Given the description of an element on the screen output the (x, y) to click on. 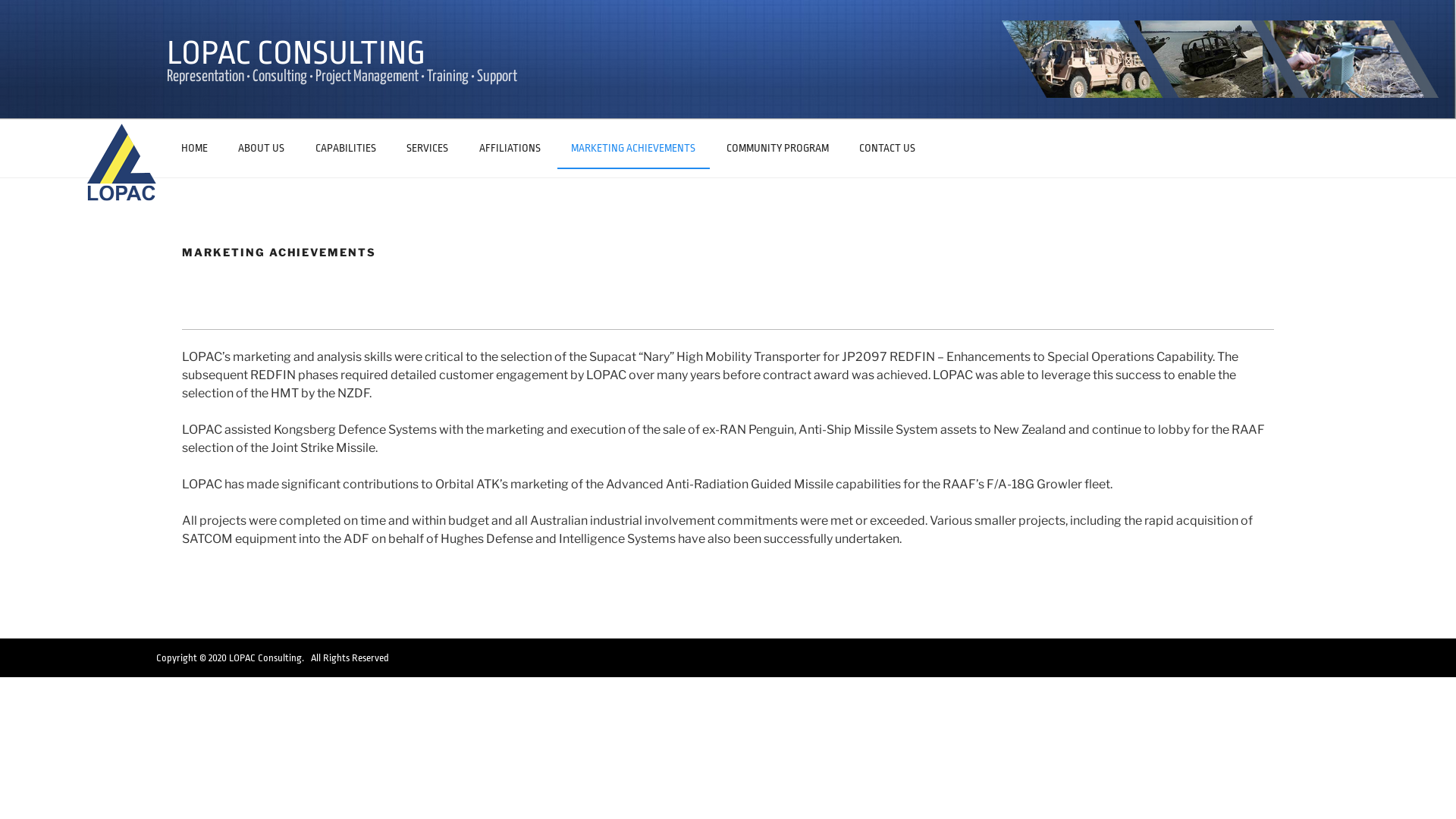
HOME Element type: text (194, 147)
COMMUNITY PROGRAM Element type: text (777, 147)
LOPAC CONSULTING Element type: text (295, 52)
MARKETING ACHIEVEMENTS Element type: text (632, 148)
CAPABILITIES Element type: text (345, 147)
SERVICES Element type: text (427, 147)
CONTACT US Element type: text (886, 147)
AFFILIATIONS Element type: text (509, 147)
ABOUT US Element type: text (261, 147)
